Given the description of an element on the screen output the (x, y) to click on. 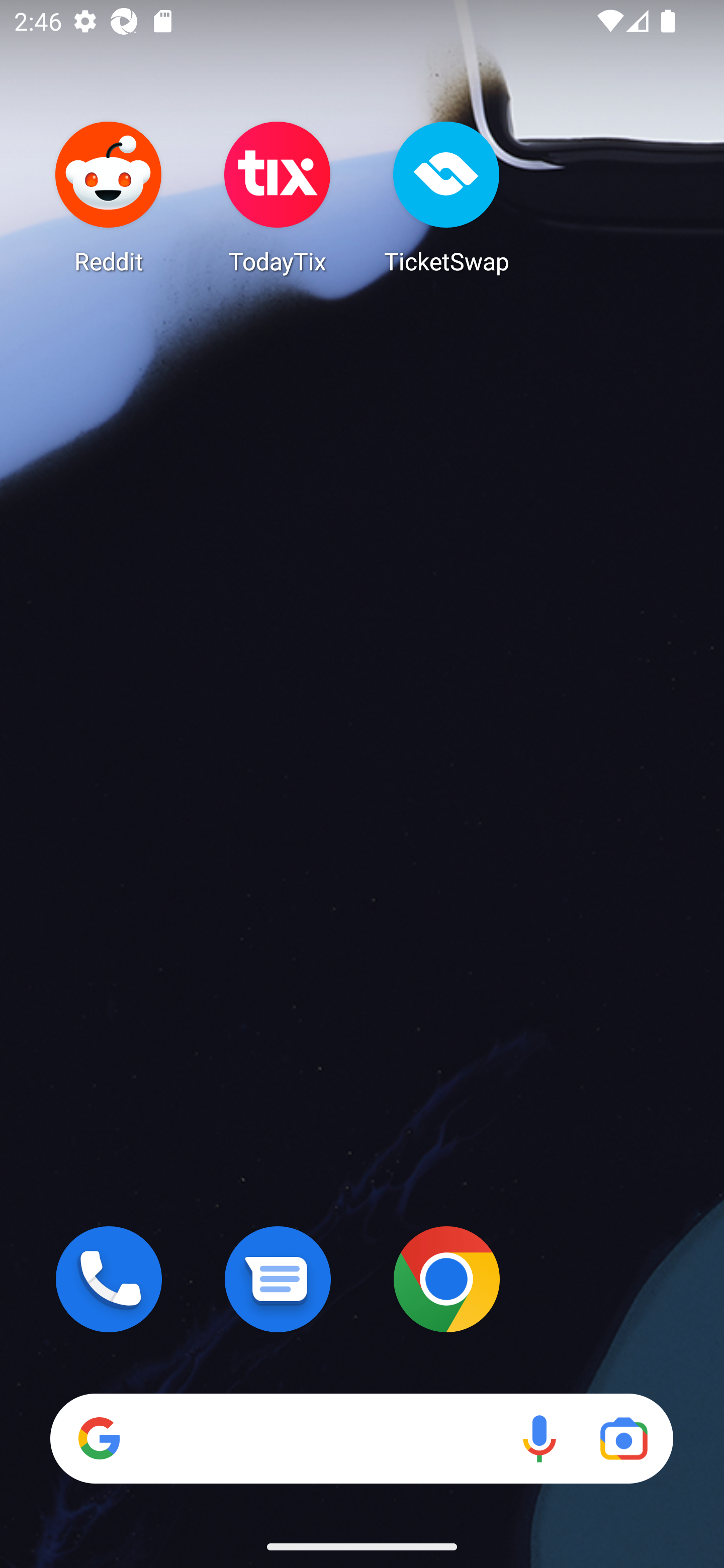
Reddit (108, 196)
TodayTix (277, 196)
TicketSwap (445, 196)
Phone (108, 1279)
Messages (277, 1279)
Chrome (446, 1279)
Voice search (539, 1438)
Google Lens (623, 1438)
